Given the description of an element on the screen output the (x, y) to click on. 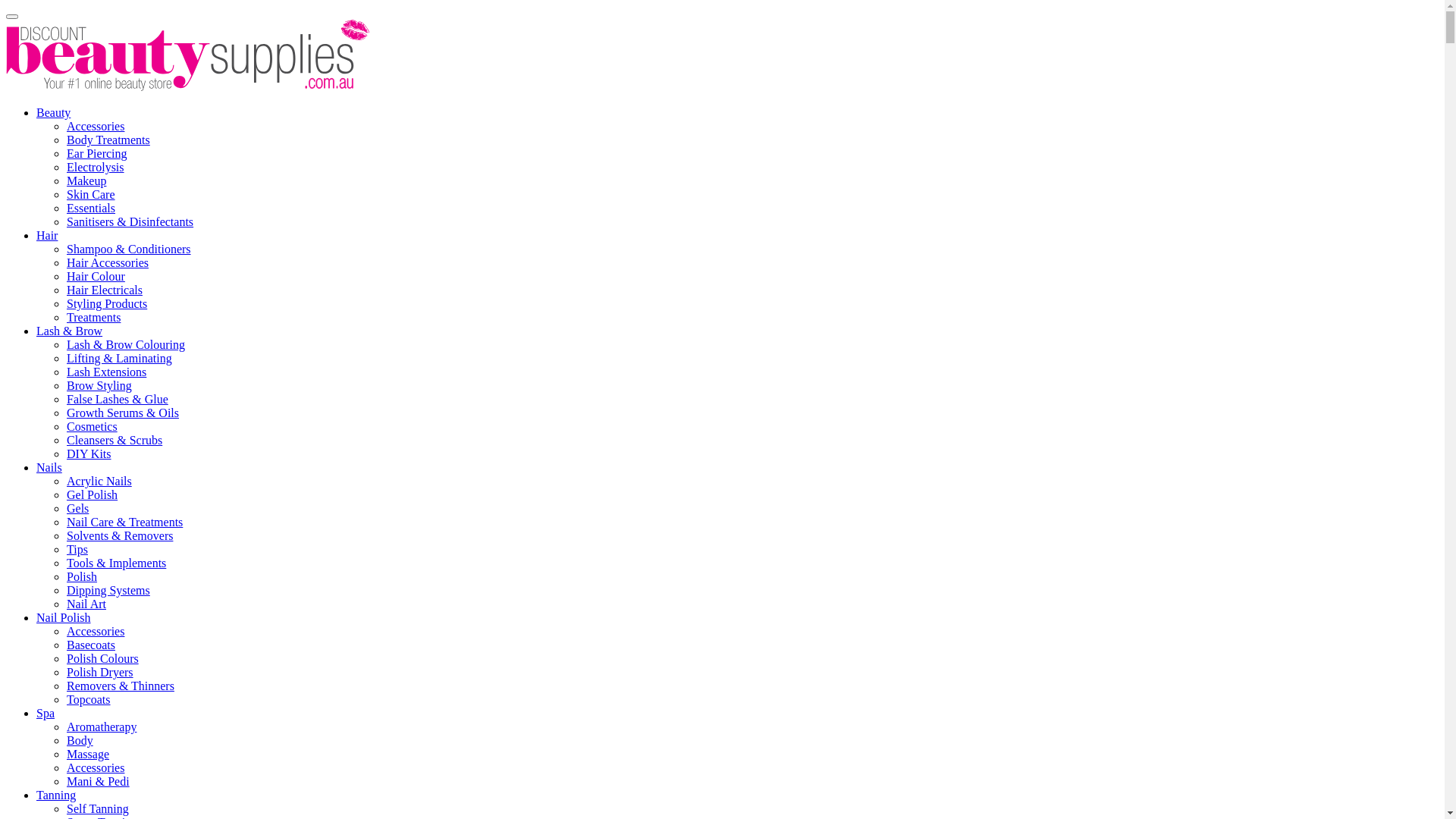
Nails Element type: text (49, 467)
Accessories Element type: text (95, 767)
Accessories Element type: text (95, 125)
Shampoo & Conditioners Element type: text (128, 248)
Self Tanning Element type: text (97, 808)
Growth Serums & Oils Element type: text (122, 412)
Lash Extensions Element type: text (106, 371)
Mani & Pedi Element type: text (97, 781)
Hair Electricals Element type: text (104, 289)
Ear Piercing Element type: text (96, 153)
Tools & Implements Element type: text (116, 562)
Lash & Brow Colouring Element type: text (125, 344)
Spa Element type: text (45, 712)
Tips Element type: text (76, 548)
Nail Care & Treatments Element type: text (124, 521)
Gels Element type: text (77, 508)
Lifting & Laminating Element type: text (119, 357)
Dipping Systems Element type: text (108, 589)
Sanitisers & Disinfectants Element type: text (129, 221)
Skin Care Element type: text (90, 194)
Makeup Element type: text (86, 180)
Body Element type: text (79, 740)
Acrylic Nails Element type: text (98, 480)
Hair Accessories Element type: text (107, 262)
False Lashes & Glue Element type: text (117, 398)
DIY Kits Element type: text (88, 453)
Massage Element type: text (87, 753)
Essentials Element type: text (90, 207)
Tanning Element type: text (55, 794)
Cleansers & Scrubs Element type: text (114, 439)
Polish Colours Element type: text (102, 658)
Solvents & Removers Element type: text (119, 535)
Polish Element type: text (81, 576)
Treatments Element type: text (93, 316)
Body Treatments Element type: text (108, 139)
Basecoats Element type: text (90, 644)
Accessories Element type: text (95, 630)
Beauty Element type: text (53, 112)
Electrolysis Element type: text (95, 166)
Hair Colour Element type: text (95, 275)
Brow Styling Element type: text (98, 385)
Hair Element type: text (46, 235)
Gel Polish Element type: text (91, 494)
Cosmetics Element type: text (91, 426)
Polish Dryers Element type: text (99, 671)
Lash & Brow Element type: text (69, 330)
Nail Art Element type: text (86, 603)
Removers & Thinners Element type: text (120, 685)
Topcoats Element type: text (88, 699)
Nail Polish Element type: text (63, 617)
Aromatherapy Element type: text (101, 726)
Styling Products Element type: text (106, 303)
